Given the description of an element on the screen output the (x, y) to click on. 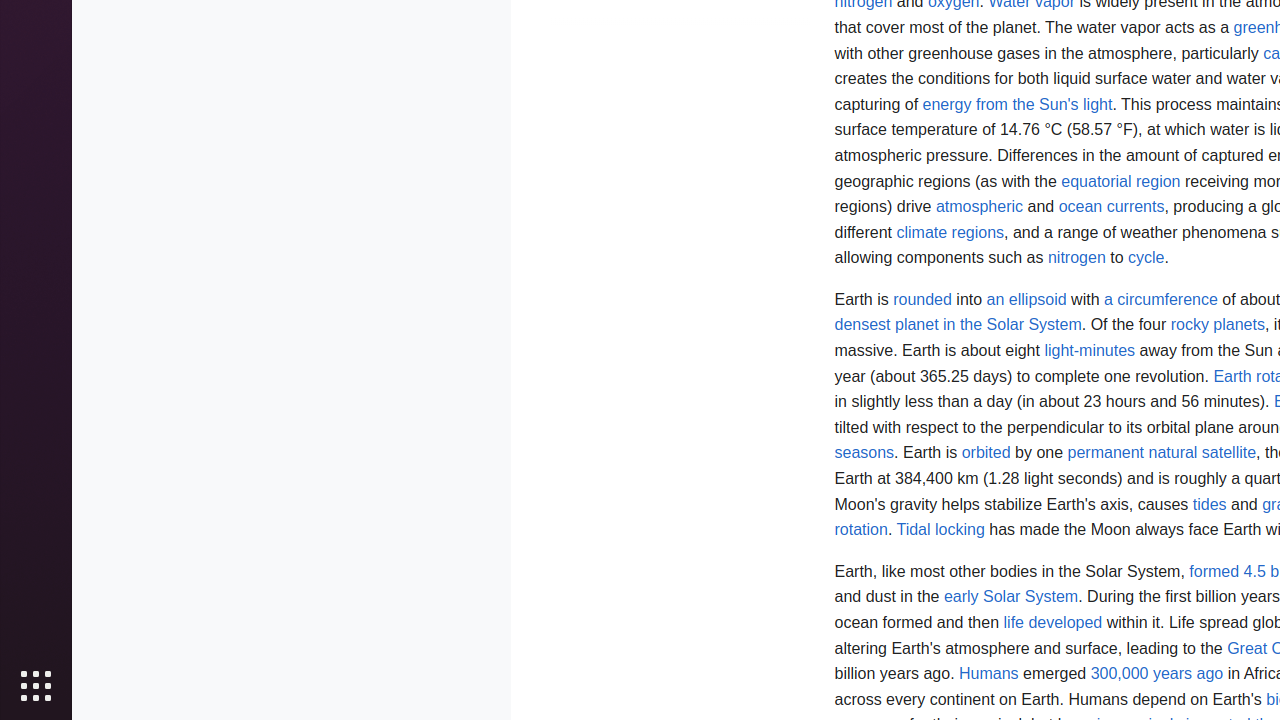
life developed Element type: link (1053, 622)
tides Element type: link (1209, 504)
a circumference Element type: link (1161, 299)
Show Applications Element type: toggle-button (36, 686)
rounded Element type: link (922, 299)
